Given the description of an element on the screen output the (x, y) to click on. 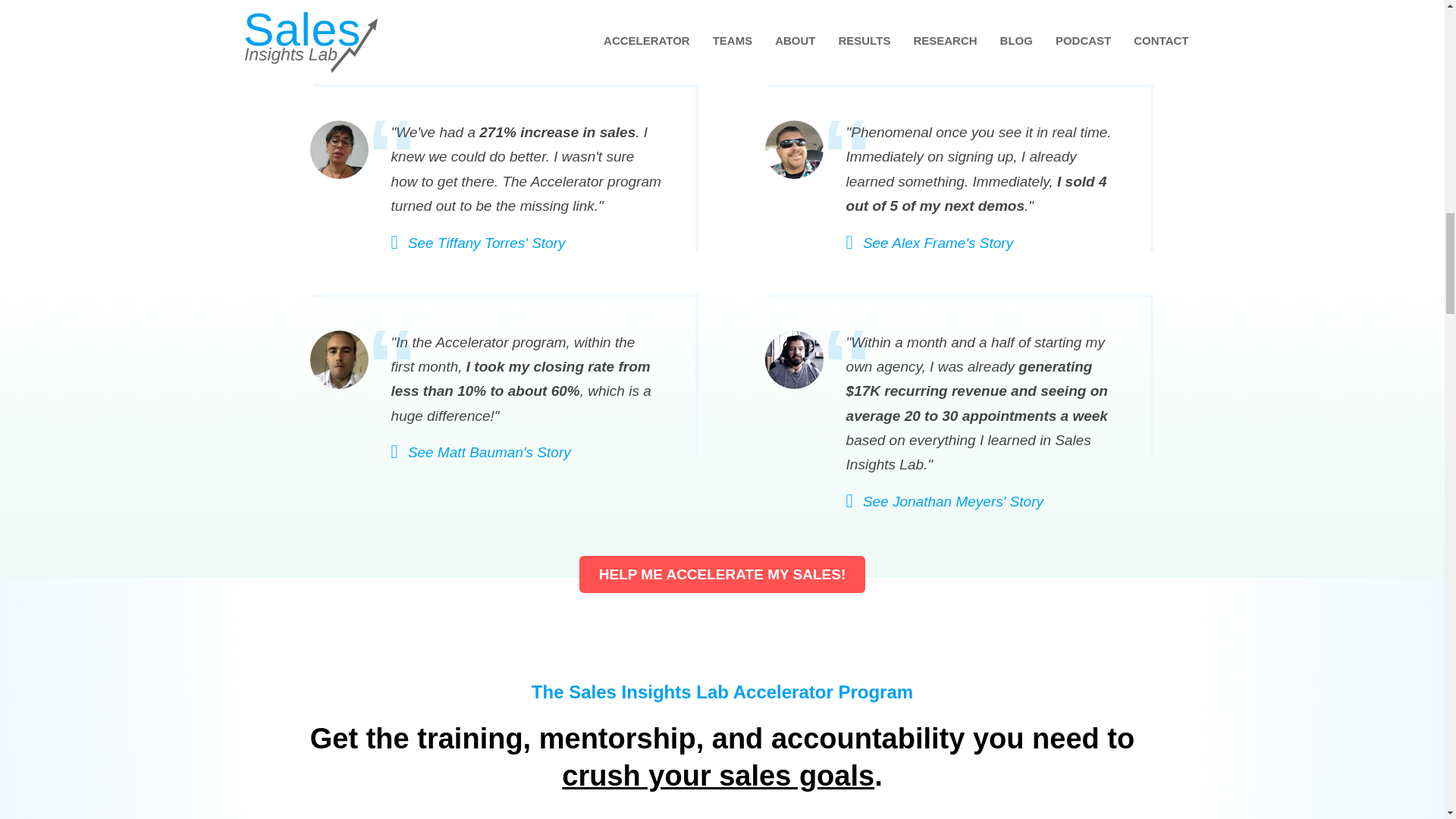
HELP ME ACCELERATE MY SALES! (722, 574)
matt-b-image-1 (338, 359)
See Alex Frame'S Story (929, 242)
jonathan-m-image-1 (793, 359)
See Tiffany Torres' Story (478, 242)
See Matt Bauman'S Story (480, 452)
See Jonathan Meyers' Story (944, 501)
alex-f-image-1 (793, 149)
Tiffany T Image (338, 149)
